Given the description of an element on the screen output the (x, y) to click on. 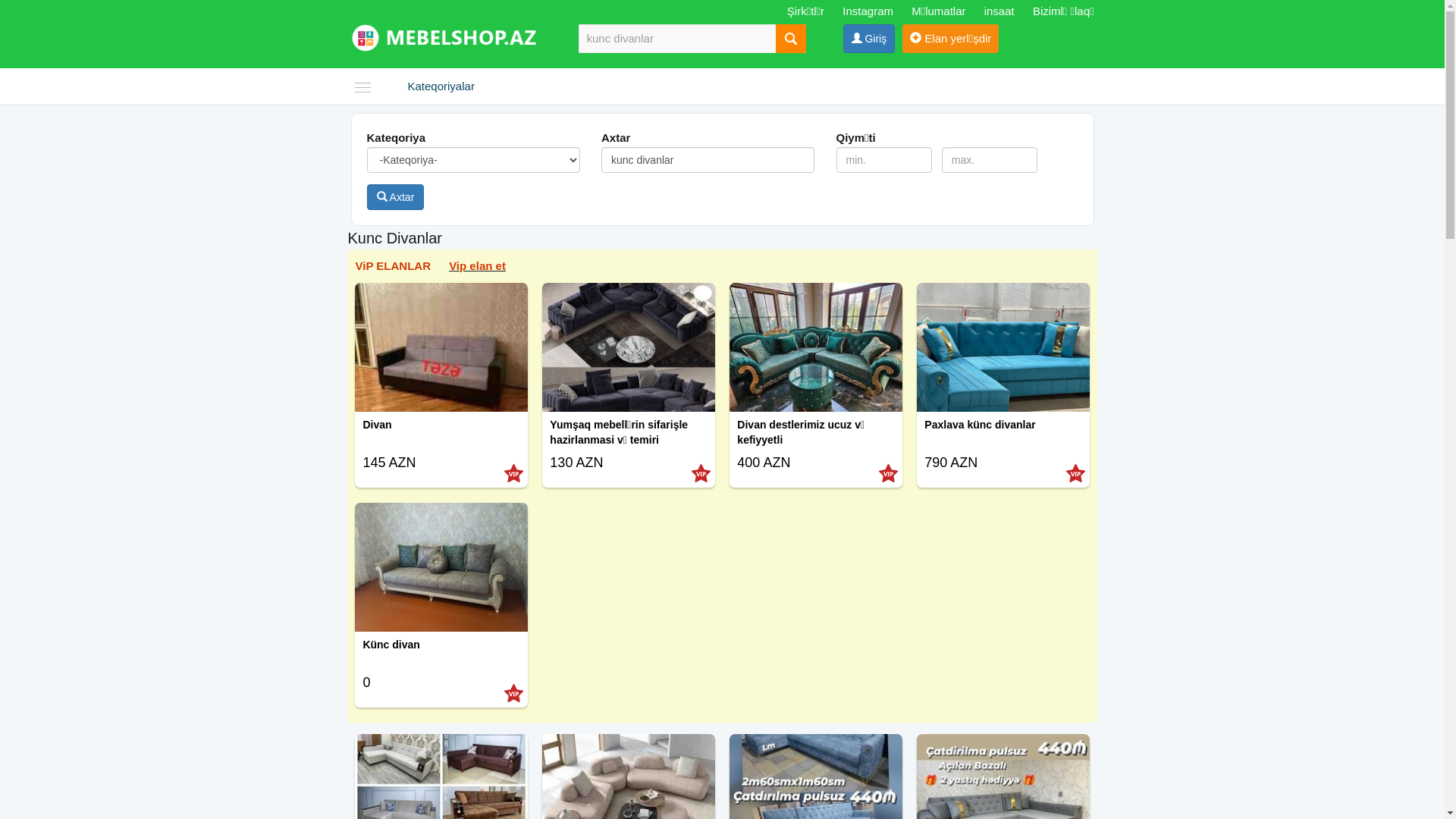
Instagram Element type: text (867, 10)
Kateqoriyalar Element type: text (471, 86)
Axtar Element type: text (395, 197)
Vip elan et Element type: text (476, 265)
max. Element type: hover (989, 159)
min. Element type: hover (884, 159)
Divan Element type: text (440, 436)
ViP ELANLAR Element type: text (391, 265)
  Element type: text (790, 38)
insaat Element type: text (999, 10)
